Given the description of an element on the screen output the (x, y) to click on. 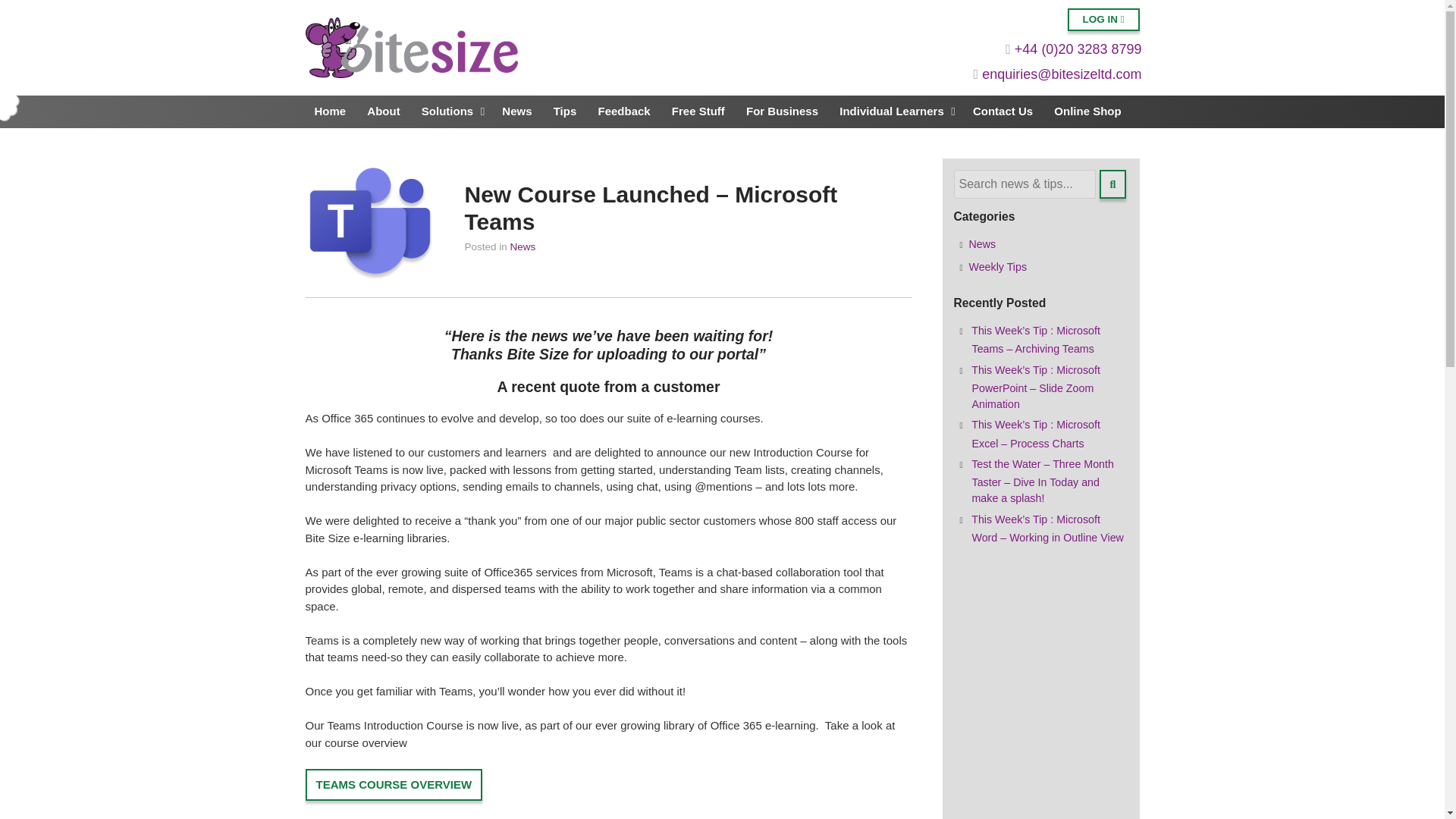
About (383, 111)
Online Shop (1087, 111)
News (516, 111)
Feedback (623, 111)
Free Stuff (697, 111)
For Business (781, 111)
Search for: (1024, 184)
Individual Learners (890, 111)
Home (329, 111)
LOG IN (1103, 19)
Tips (565, 111)
Contact Us (1002, 111)
Solutions (446, 111)
